Given the description of an element on the screen output the (x, y) to click on. 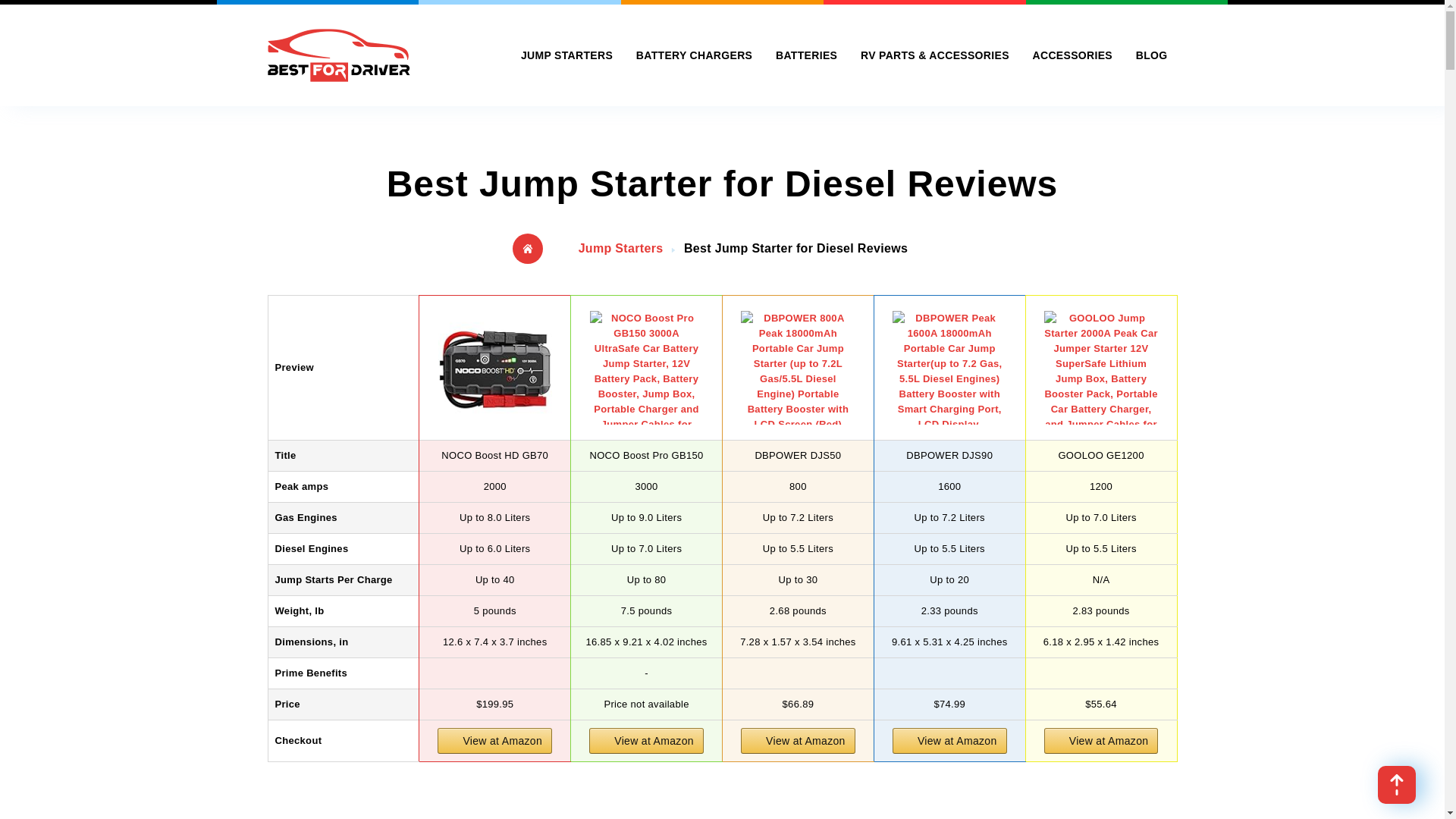
View at Amazon (646, 740)
View at Amazon (798, 740)
View at Amazon (494, 740)
Auto Blog (1151, 54)
View at Amazon (798, 740)
View at Amazon (949, 740)
BLOG (1151, 54)
View at Amazon (1100, 740)
BATTERIES (806, 54)
